Given the description of an element on the screen output the (x, y) to click on. 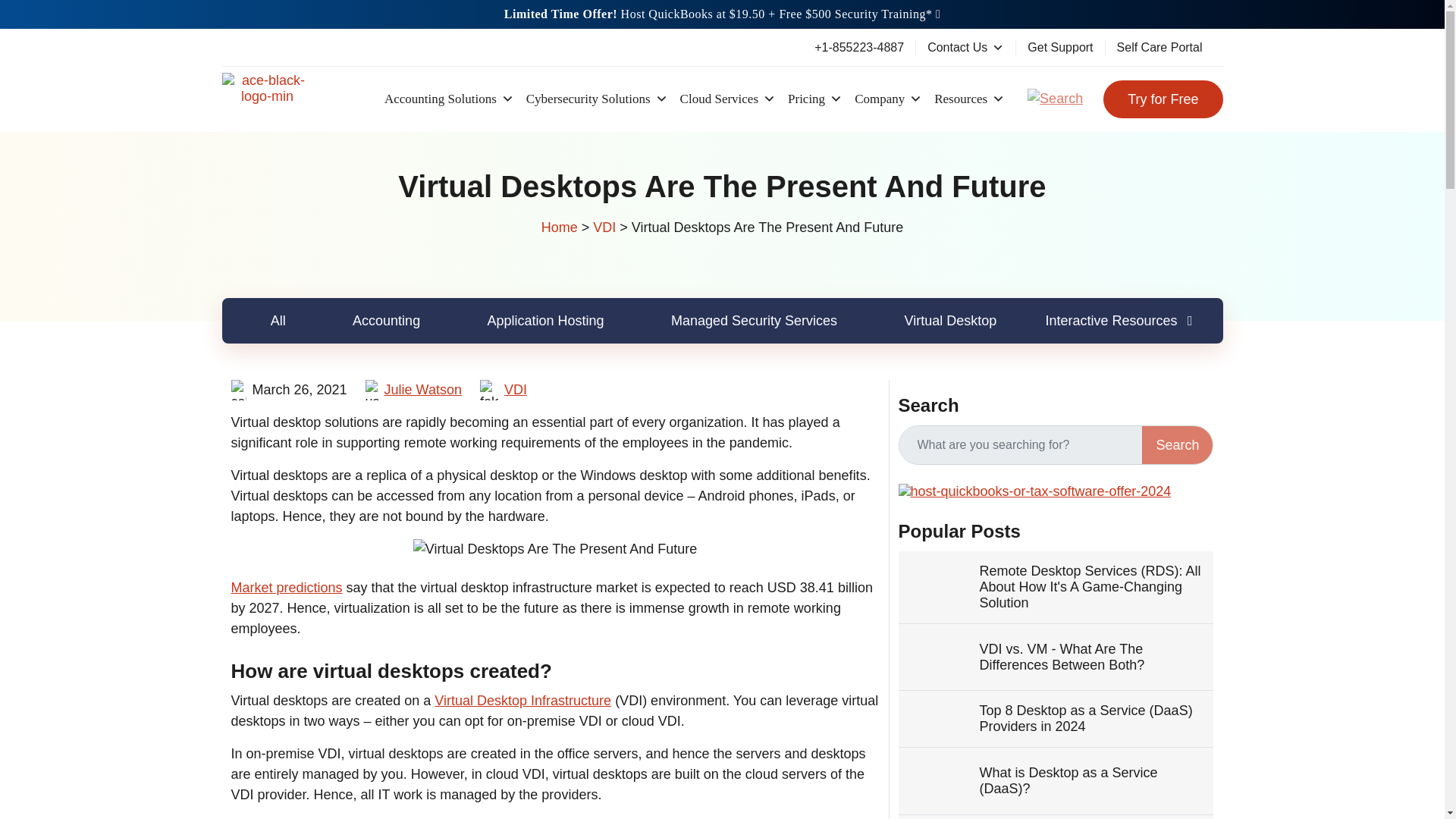
Accounting Solutions (448, 99)
Get Support (1059, 47)
Contact Us (964, 47)
Self Care Portal (1159, 47)
Search (1176, 444)
